Given the description of an element on the screen output the (x, y) to click on. 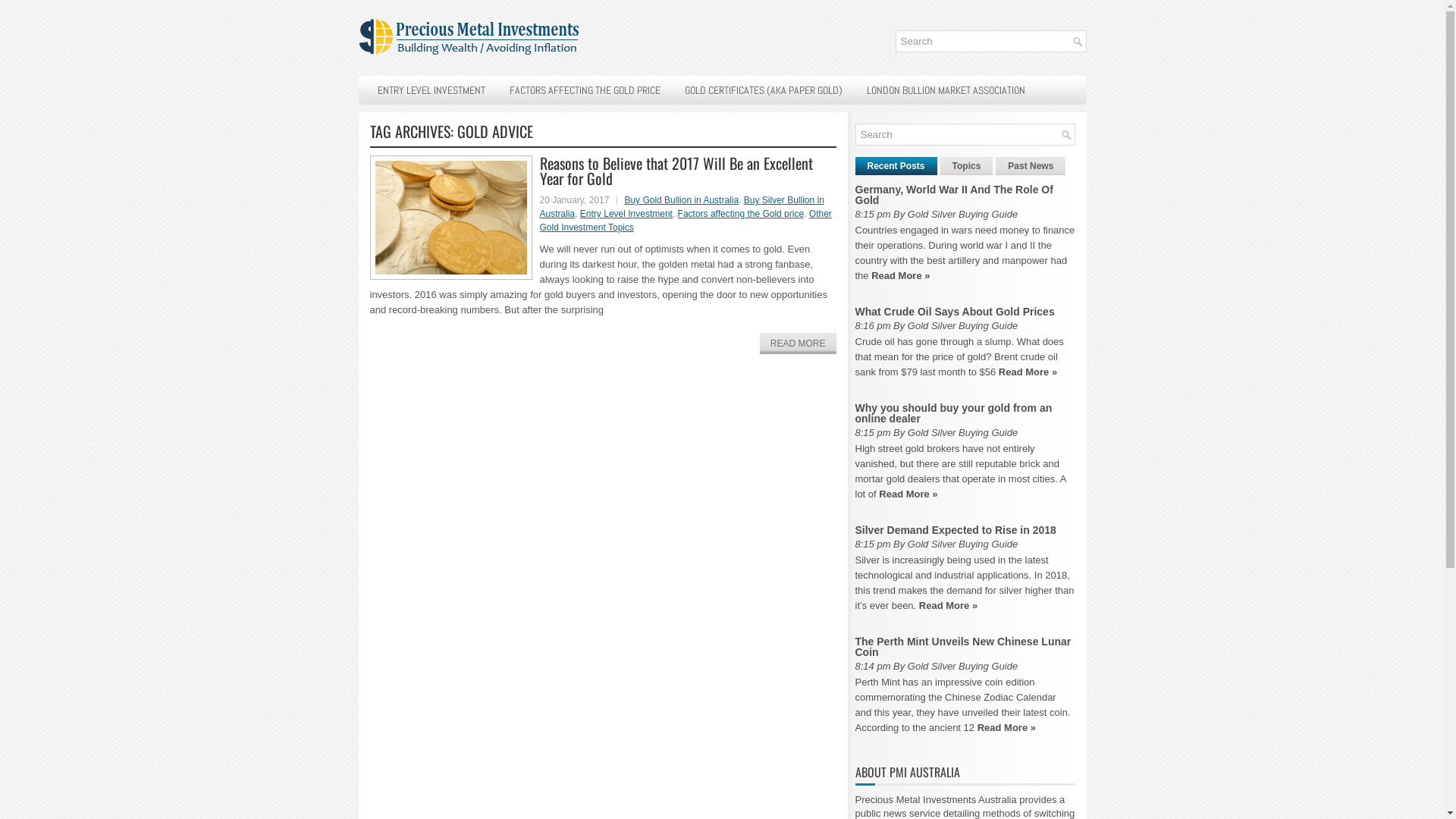
Why you should buy your gold from an online dealer Element type: text (953, 412)
FACTORS AFFECTING THE GOLD PRICE Element type: text (584, 89)
LONDON BULLION MARKET ASSOCIATION Element type: text (945, 89)
Factors affecting the Gold price Element type: text (740, 213)
READ MORE Element type: text (797, 343)
Germany, World War II And The Role Of Gold Element type: text (954, 194)
Other Gold Investment Topics Element type: text (685, 220)
Entry Level Investment Element type: text (626, 213)
The Perth Mint Unveils New Chinese Lunar Coin Element type: text (963, 646)
Type and hit enter Element type: hover (965, 134)
Buy Gold Bullion in Australia Element type: text (681, 199)
Past News Element type: text (1030, 165)
Topics Element type: text (966, 165)
Recent Posts Element type: text (896, 165)
ENTRY LEVEL INVESTMENT Element type: text (430, 89)
Type and hit enter Element type: hover (989, 41)
What Crude Oil Says About Gold Prices Element type: text (954, 311)
GOLD CERTIFICATES (AKA PAPER GOLD) Element type: text (763, 89)
Silver Demand Expected to Rise in 2018  Element type: text (957, 530)
Gold & Silver Buying Guide Element type: hover (470, 37)
Buy Silver Bullion in Australia Element type: text (681, 206)
